Given the description of an element on the screen output the (x, y) to click on. 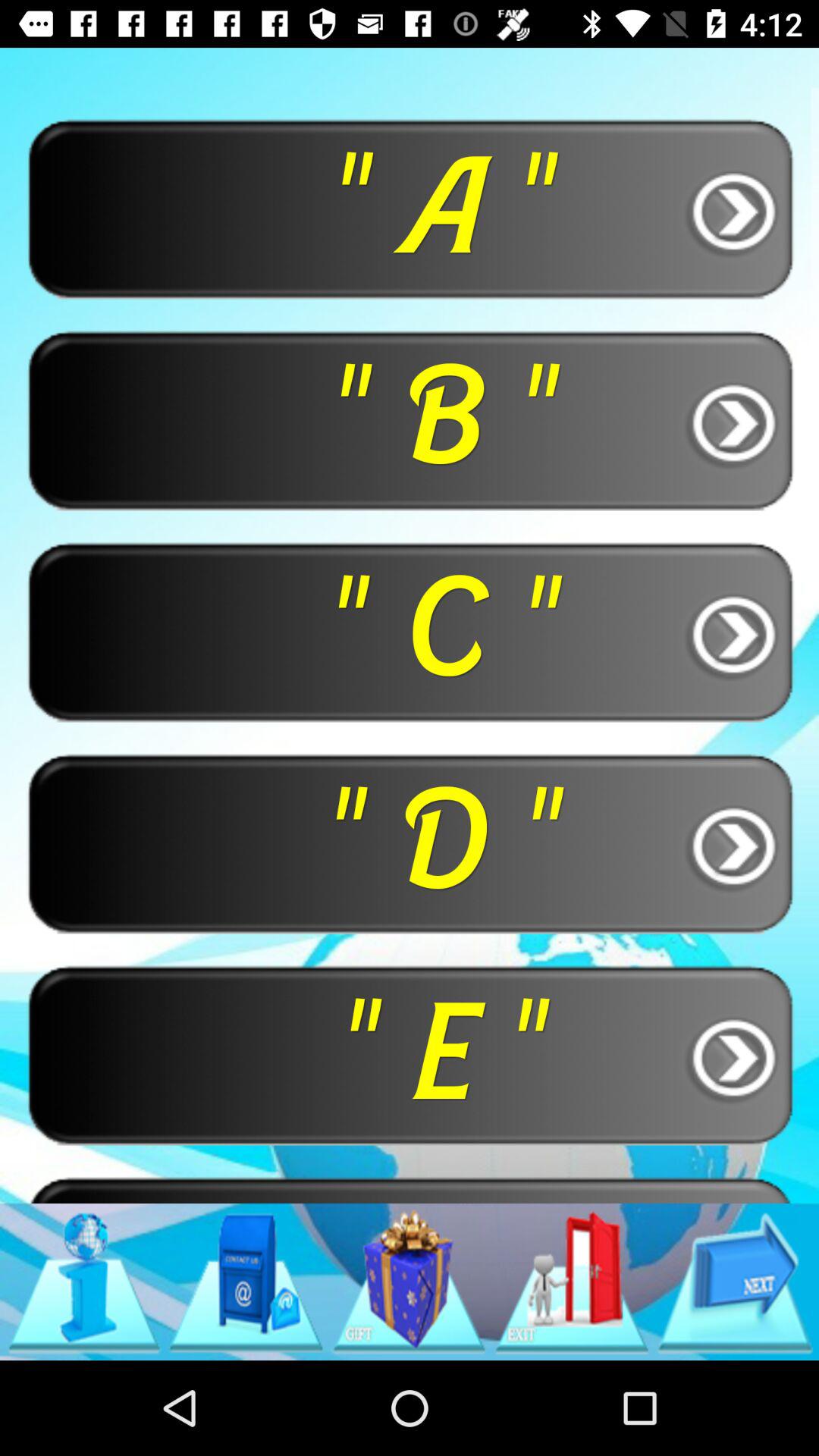
jump until the   " a " item (409, 208)
